Given the description of an element on the screen output the (x, y) to click on. 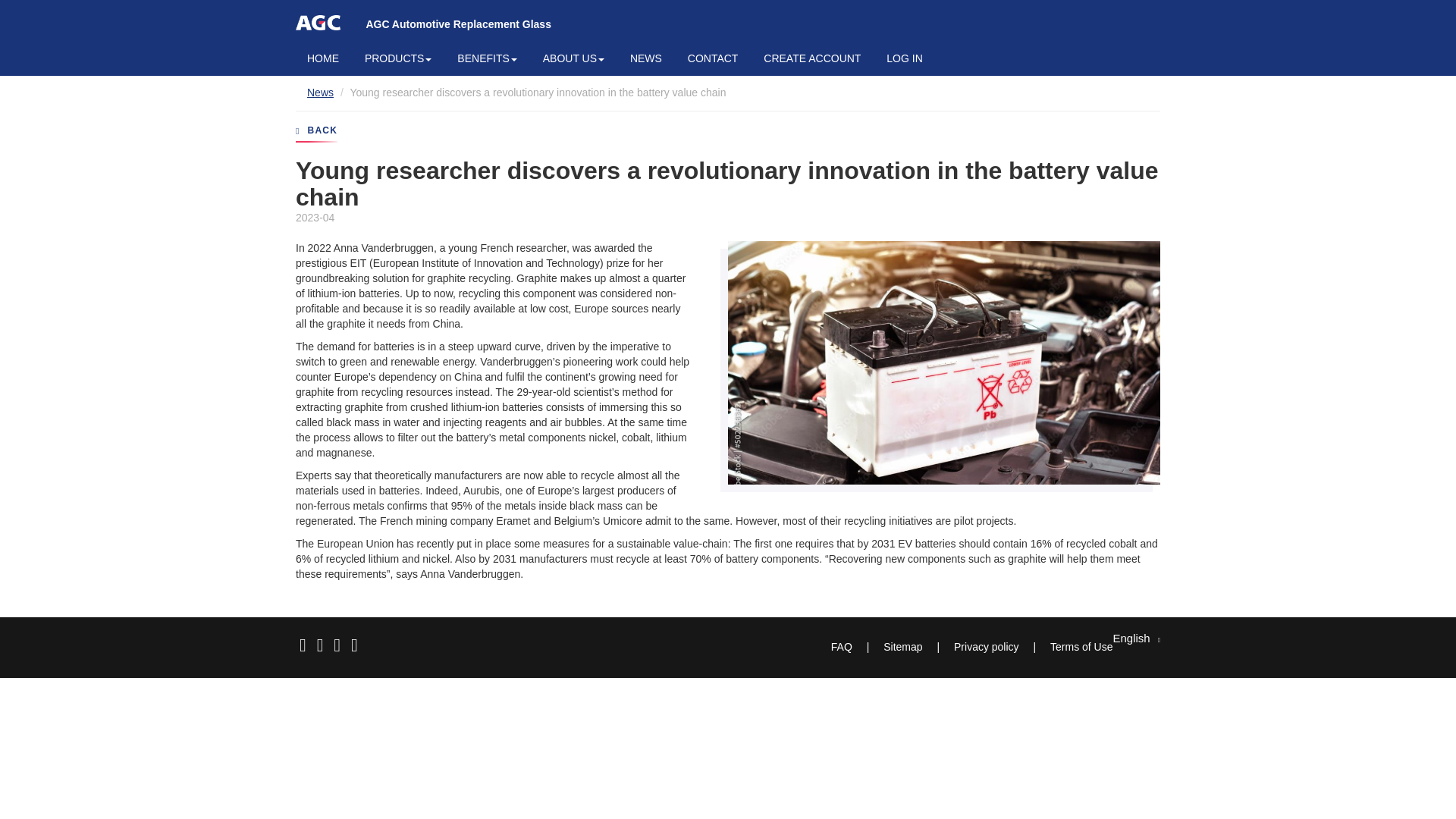
ABOUT US (573, 59)
News (320, 92)
PRODUCTS (398, 59)
Home (317, 22)
AGC Automotive Replacement Glass (458, 24)
CREATE ACCOUNT (812, 59)
HOME (322, 59)
FAQ (841, 647)
NEWS (645, 59)
Home (458, 24)
